Given the description of an element on the screen output the (x, y) to click on. 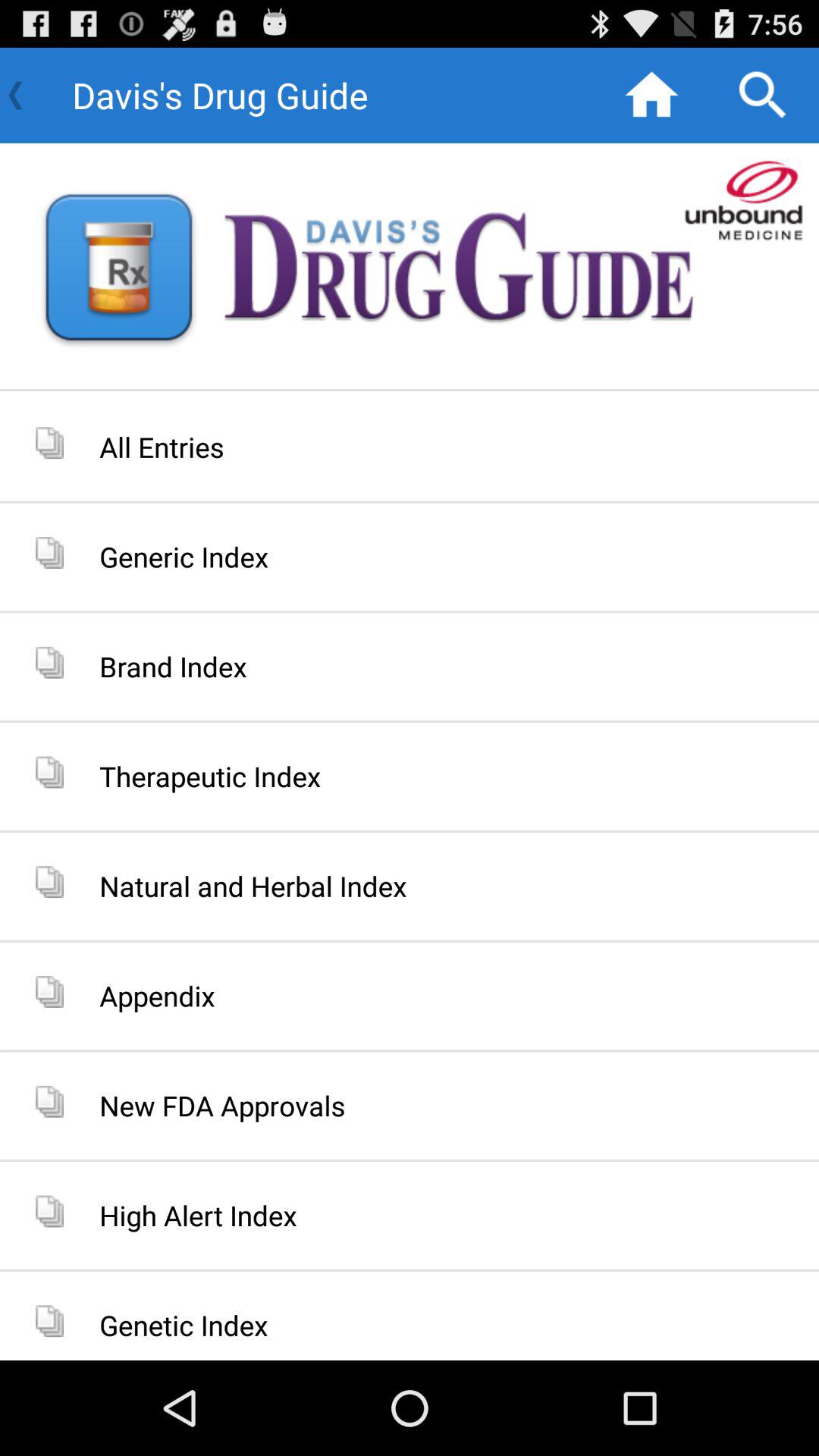
select the icon left to brand index (49, 662)
click on the left of new fda approvals (49, 1101)
select symbol left to therapeutic index (49, 772)
